Given the description of an element on the screen output the (x, y) to click on. 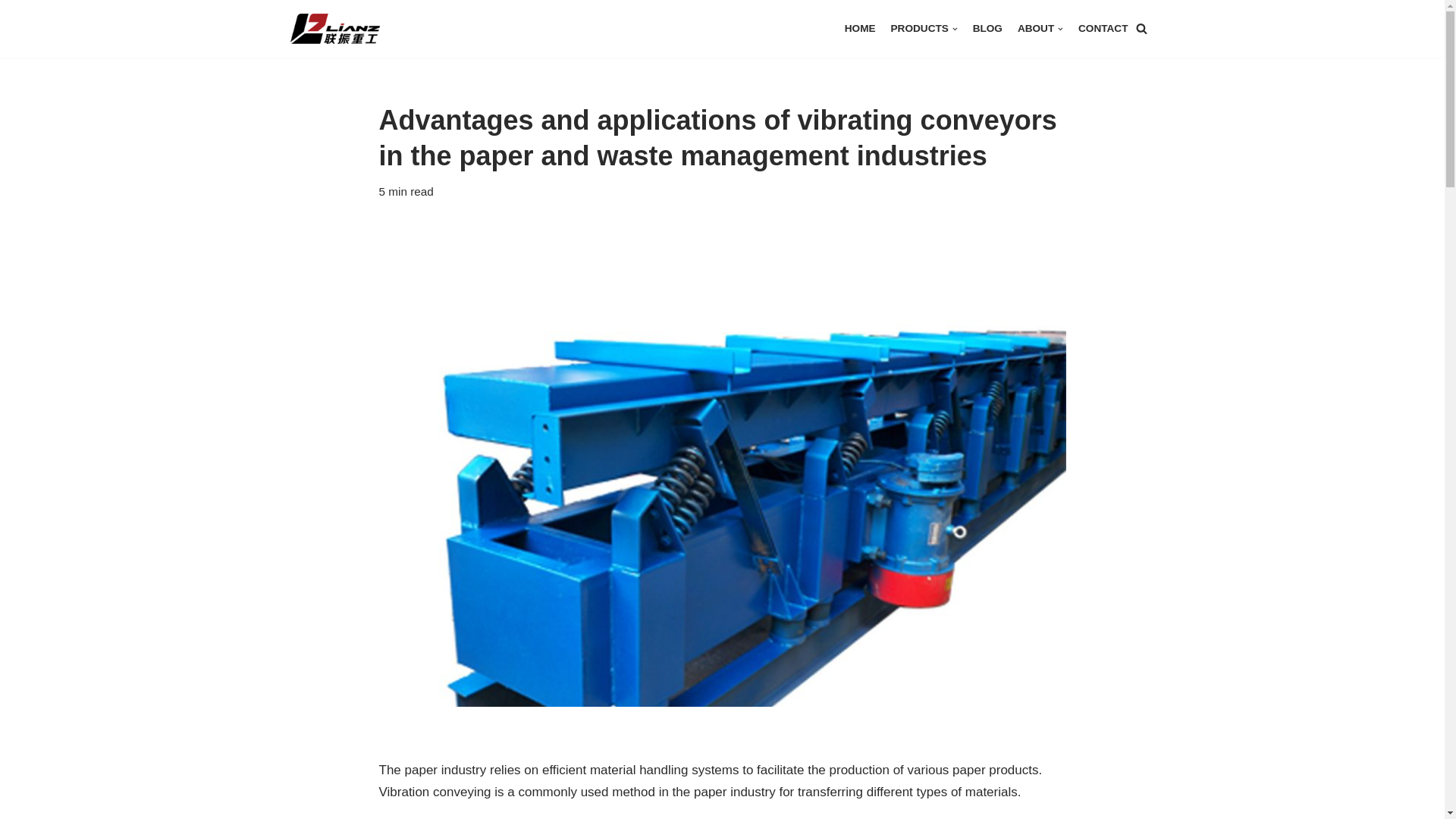
HOME (860, 27)
Skip to content (11, 31)
BLOG (987, 27)
ABOUT (1039, 27)
Vibratory Conveyor Manufacturer - UHM (341, 28)
CONTACT (1102, 27)
PRODUCTS (924, 27)
